Given the description of an element on the screen output the (x, y) to click on. 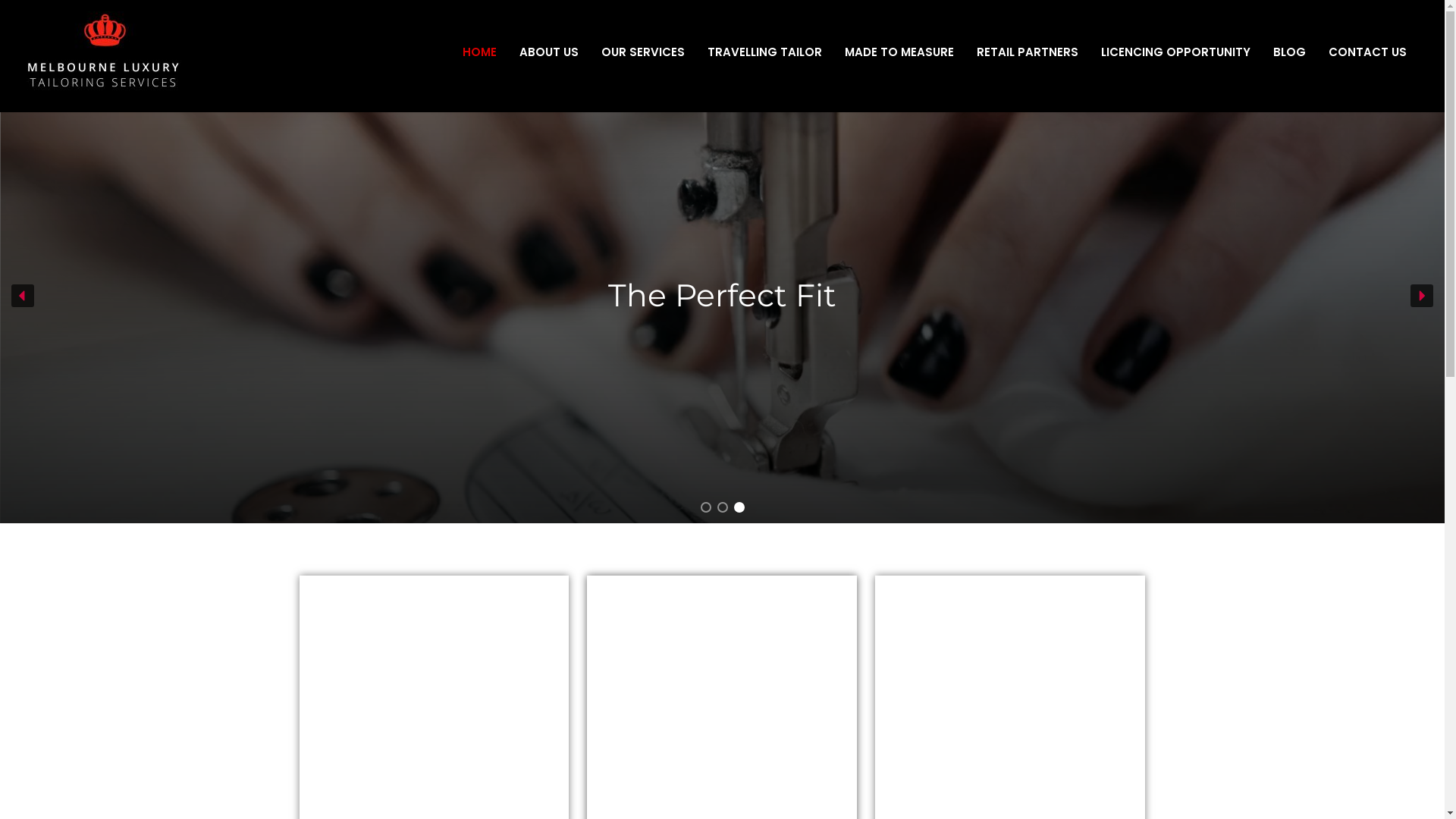
TRAVELLING TAILOR Element type: text (721, 607)
OUR SERVICES Element type: text (642, 52)
HOME Element type: text (479, 52)
CONTACT US Element type: text (1367, 52)
LICENCING OPPORTUNITY Element type: text (1175, 52)
CLOTHING ALTERATIONS Element type: text (433, 605)
MADE TO MEASURE Element type: text (899, 52)
RETAIL PARTNERS Element type: text (1027, 52)
TRAVELLING TAILOR Element type: text (764, 52)
MADE TO MEASURE Element type: text (1010, 607)
BLOG Element type: text (1289, 52)
ABOUT US Element type: text (548, 52)
